Given the description of an element on the screen output the (x, y) to click on. 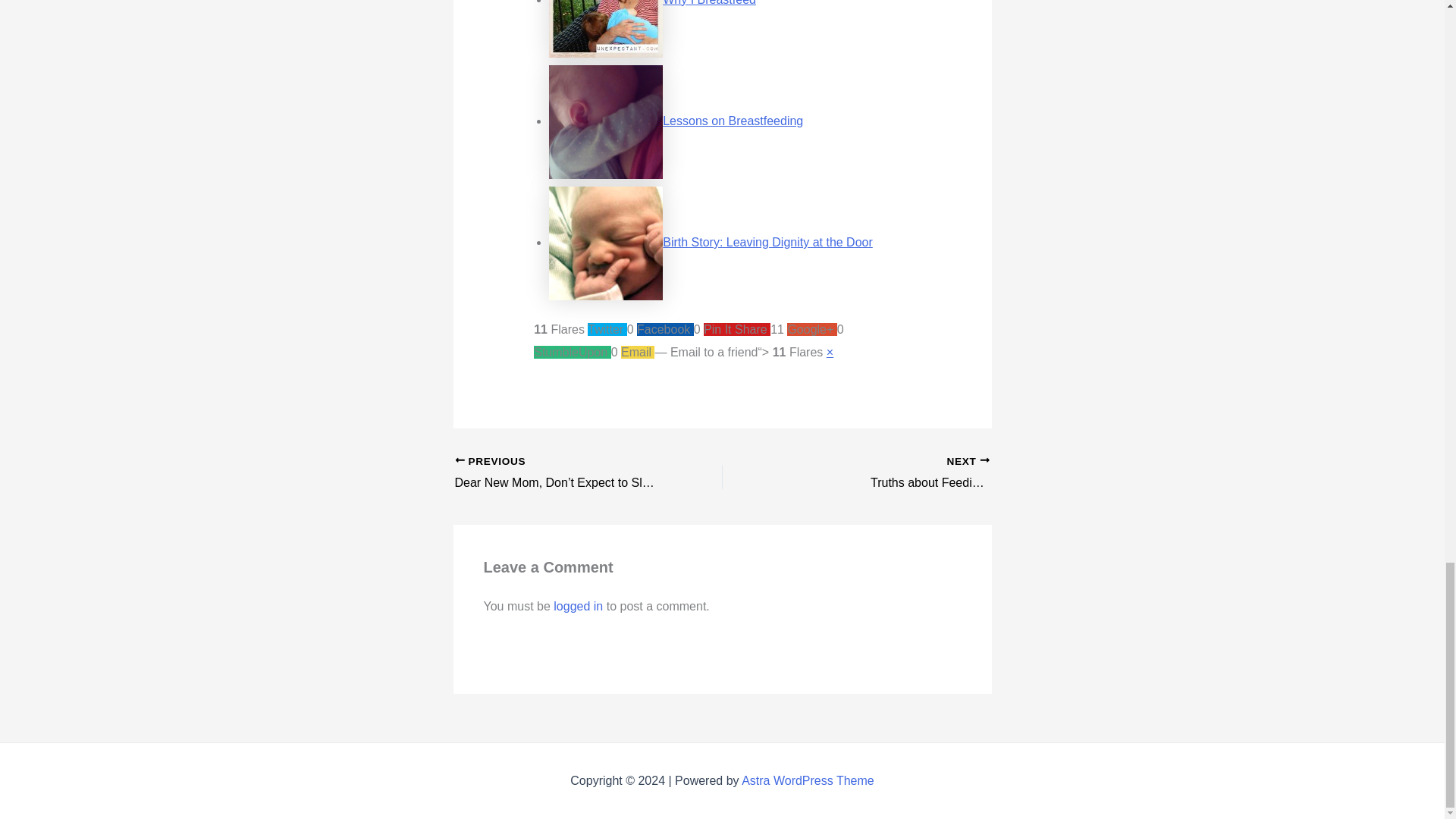
Lessons on Breastfeeding (732, 120)
Truths about Feeding a One-Year-Old (923, 473)
logged in (923, 473)
Birth Story: Leaving Dignity at the Door (577, 605)
Why I Breastfeed (767, 241)
Astra WordPress Theme (708, 2)
Dear New Mom, Don't Expect to Sleep (808, 780)
"Email (561, 473)
